Given the description of an element on the screen output the (x, y) to click on. 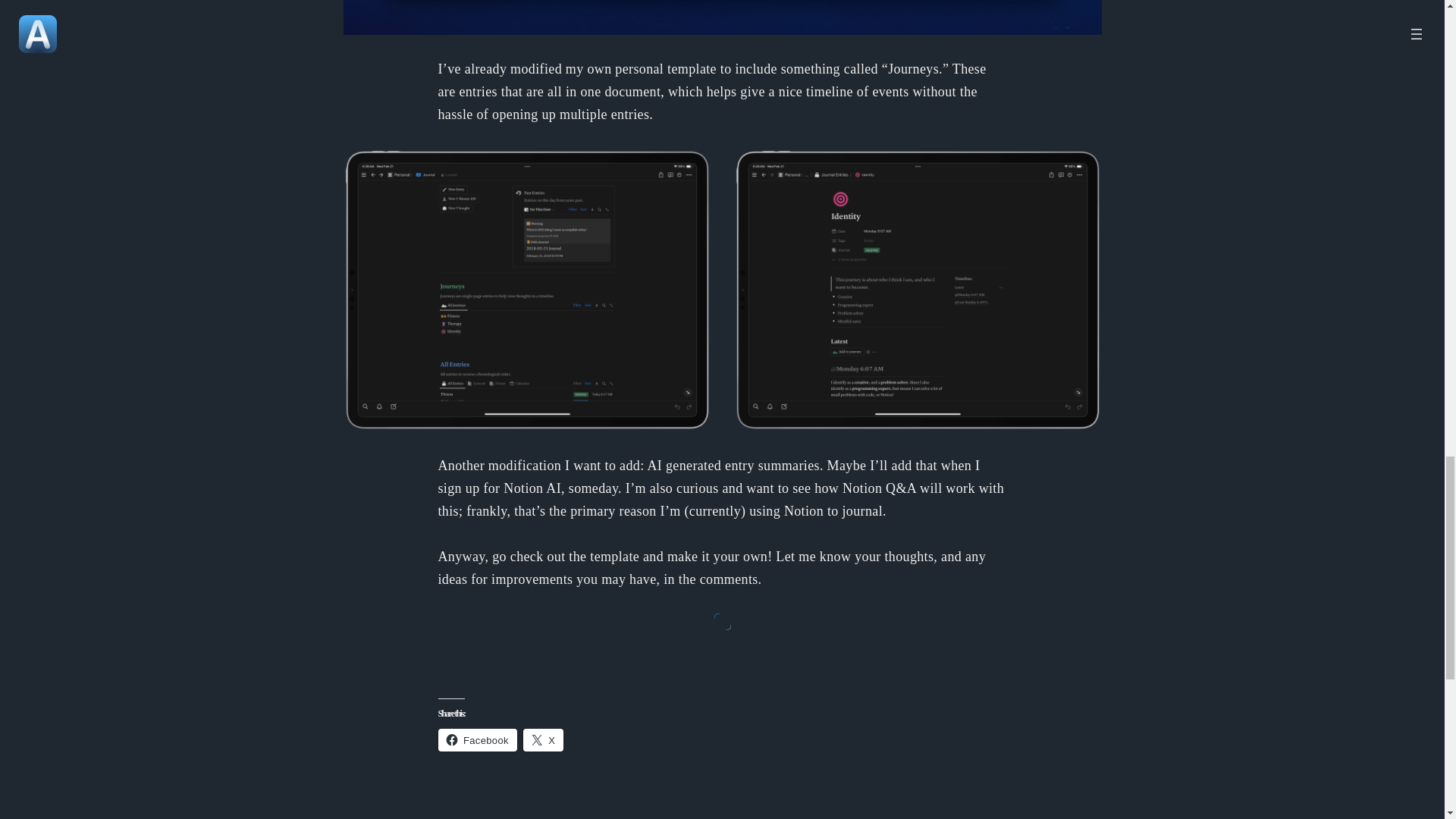
Click to share on Facebook (477, 739)
X (542, 739)
Click to share on X (542, 739)
Facebook (477, 739)
